Given the description of an element on the screen output the (x, y) to click on. 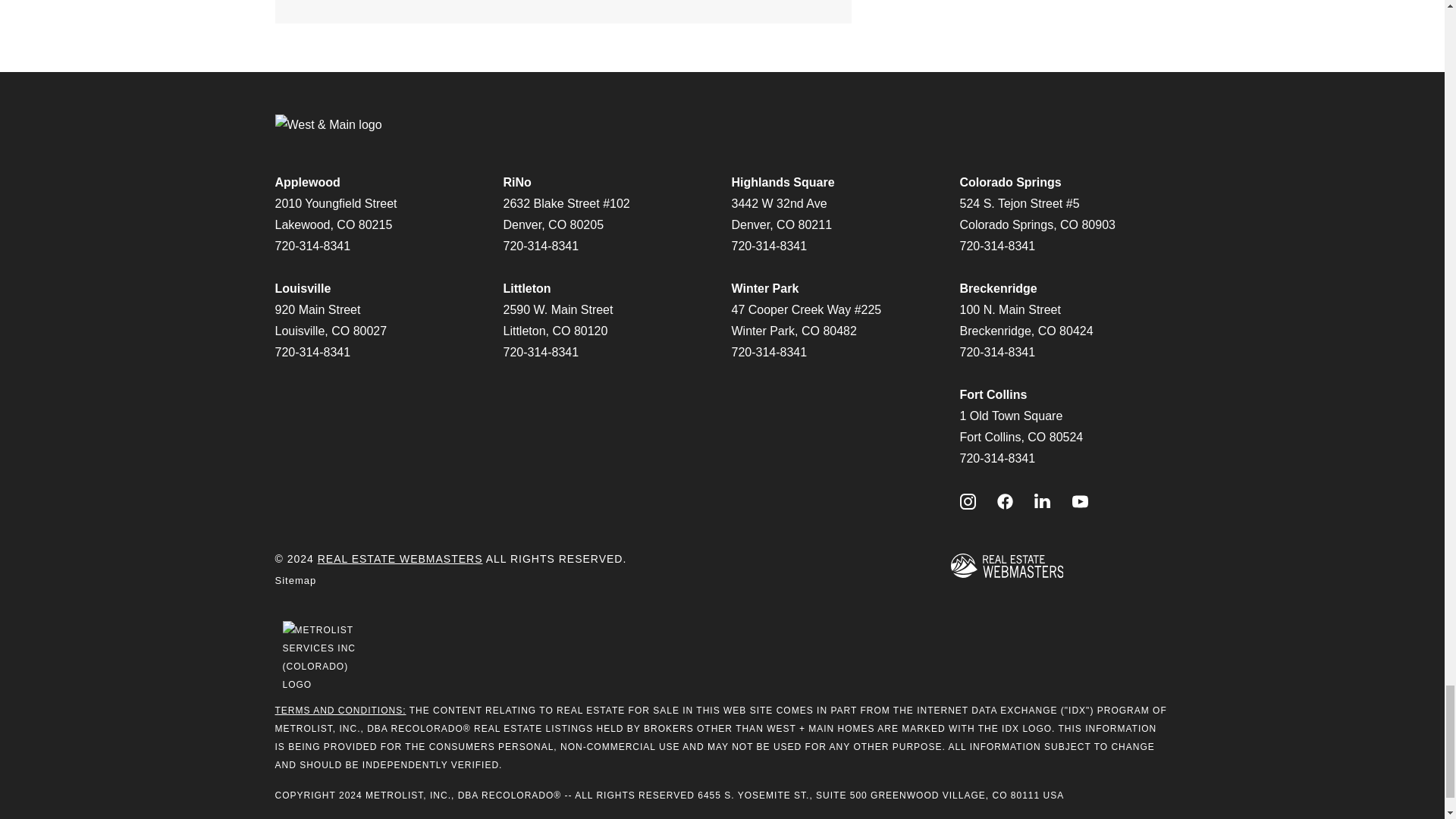
Metrolist IDX Terms and Conditions (340, 710)
